Given the description of an element on the screen output the (x, y) to click on. 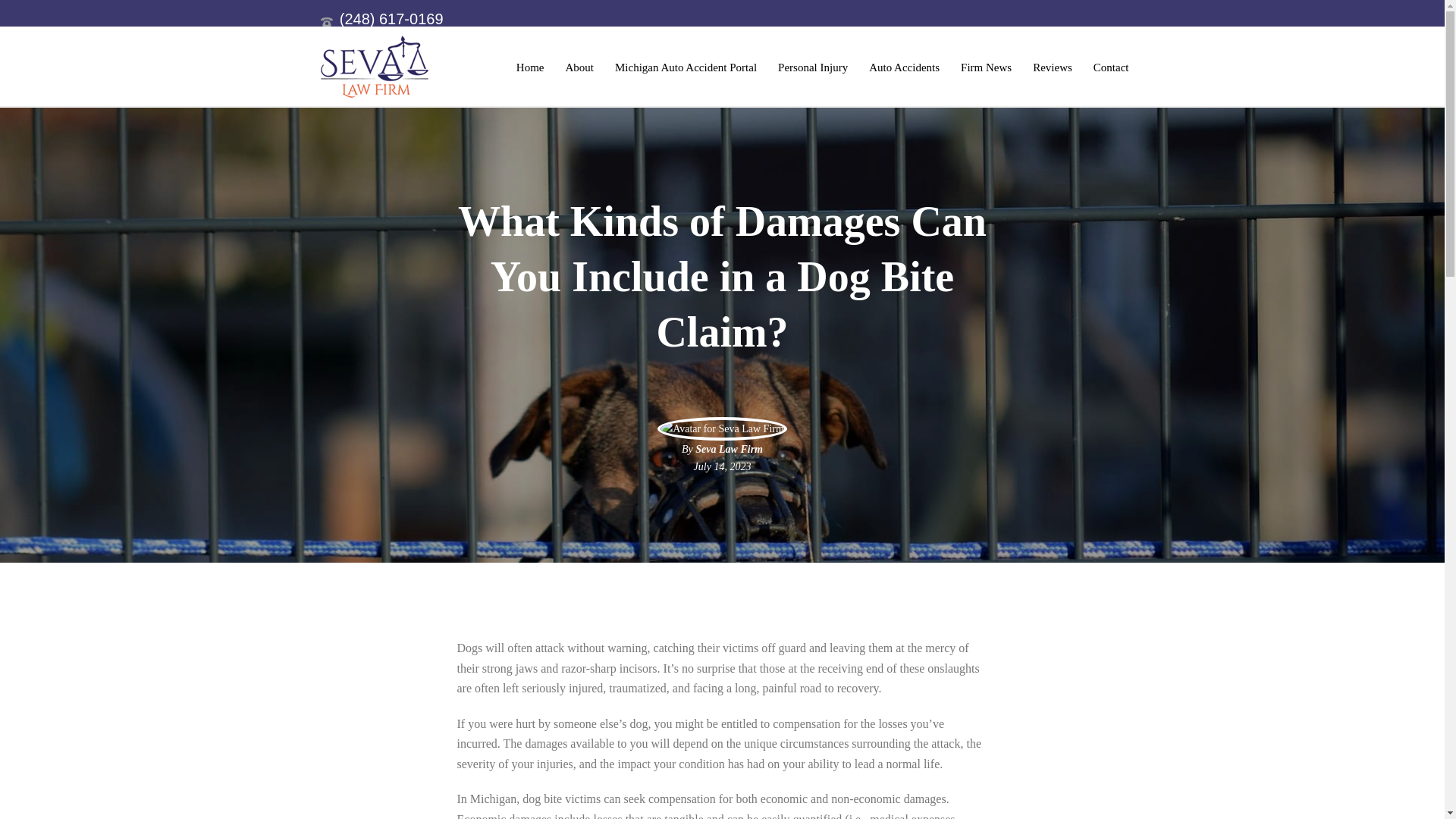
Reviews (1052, 67)
Firm News (986, 67)
Contact (1111, 67)
About (579, 67)
Personal Injury (813, 67)
Gravatar for Seva Law Firm (722, 428)
Auto Accidents (904, 67)
Michigan Auto Accident Portal (685, 67)
Home (529, 67)
Home (529, 67)
